Given the description of an element on the screen output the (x, y) to click on. 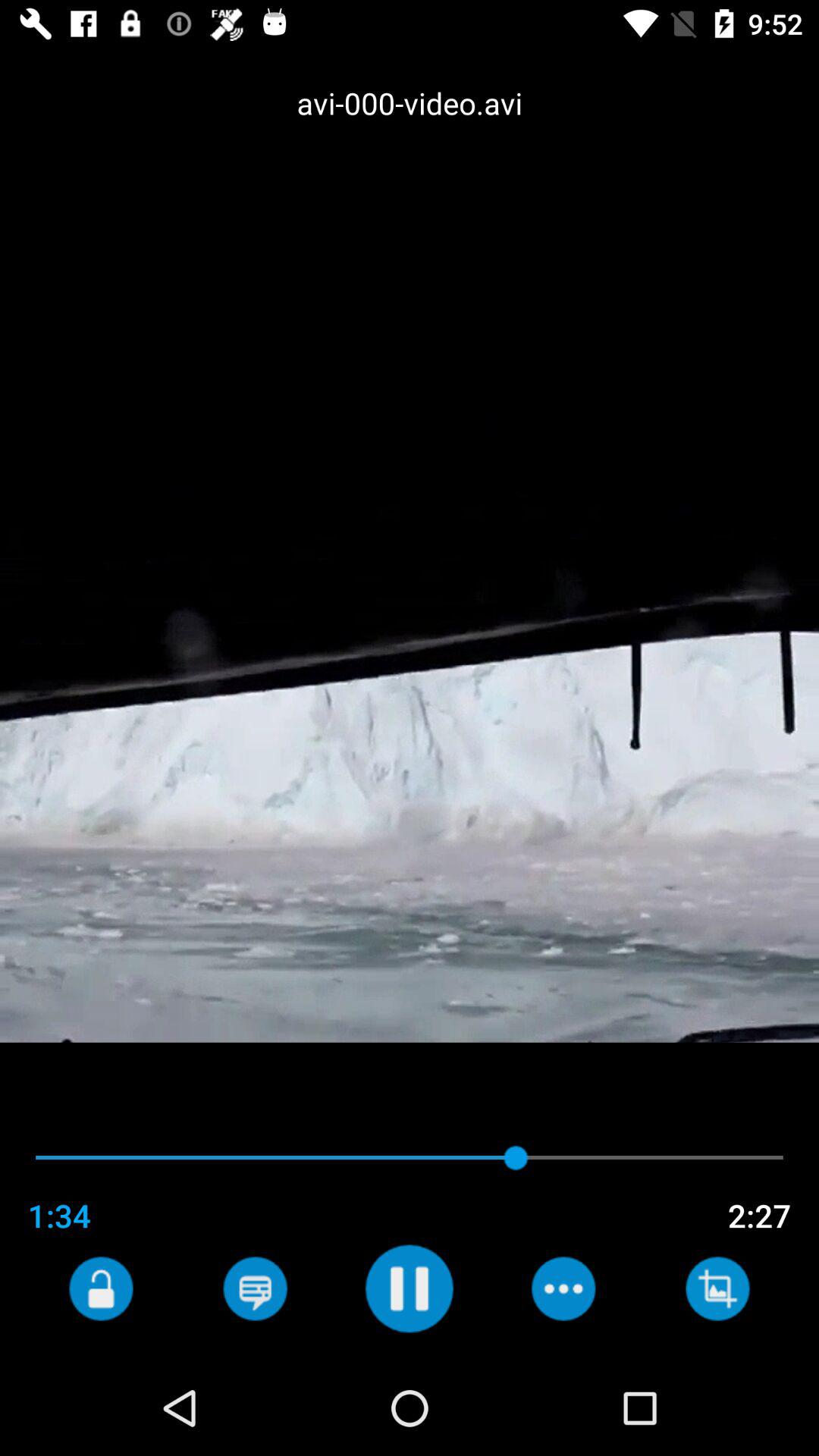
pass the button (255, 1288)
